Given the description of an element on the screen output the (x, y) to click on. 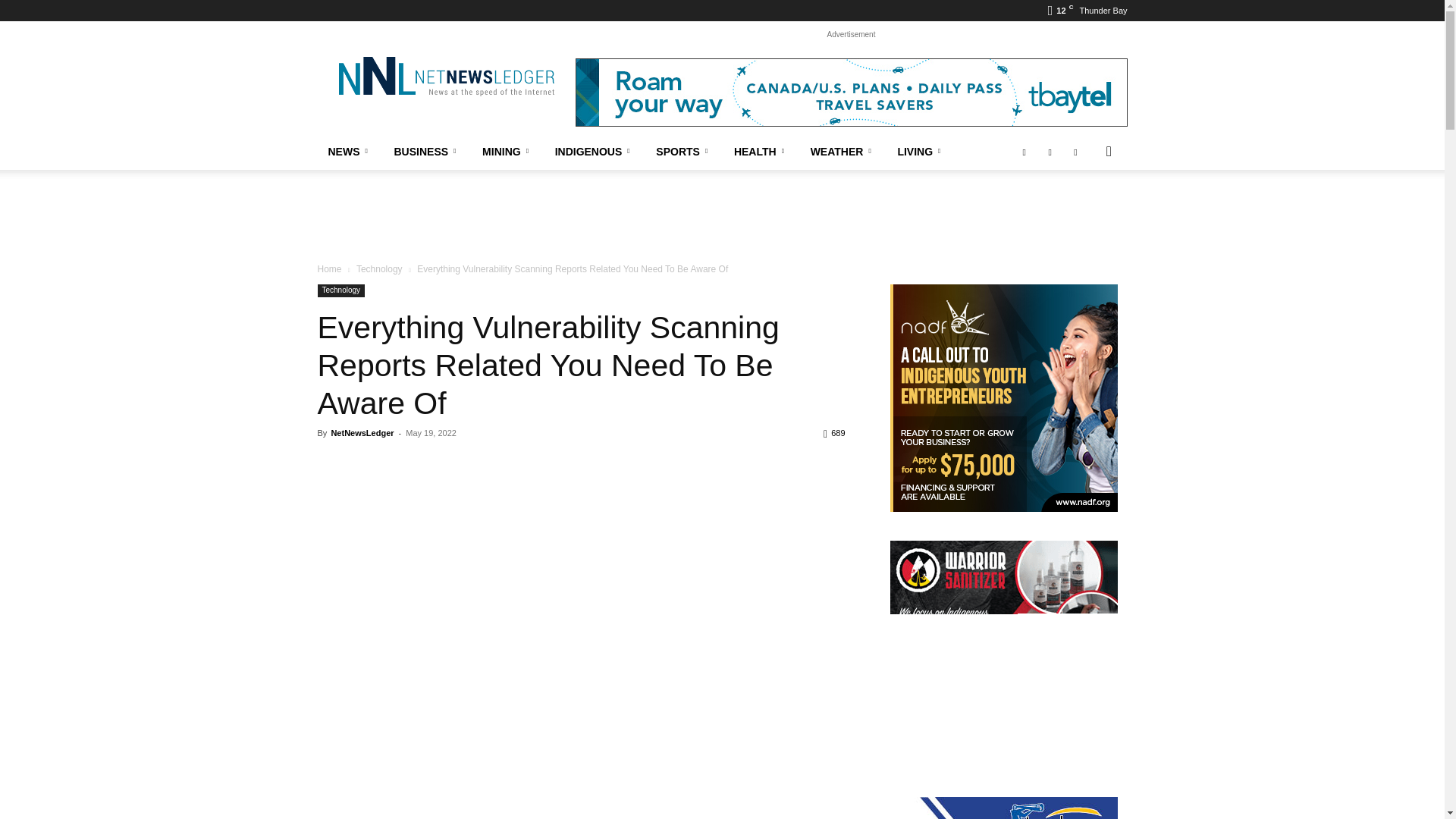
tbaytel (850, 92)
NetNewsLedger (445, 76)
View all posts in Technology (379, 268)
